Given the description of an element on the screen output the (x, y) to click on. 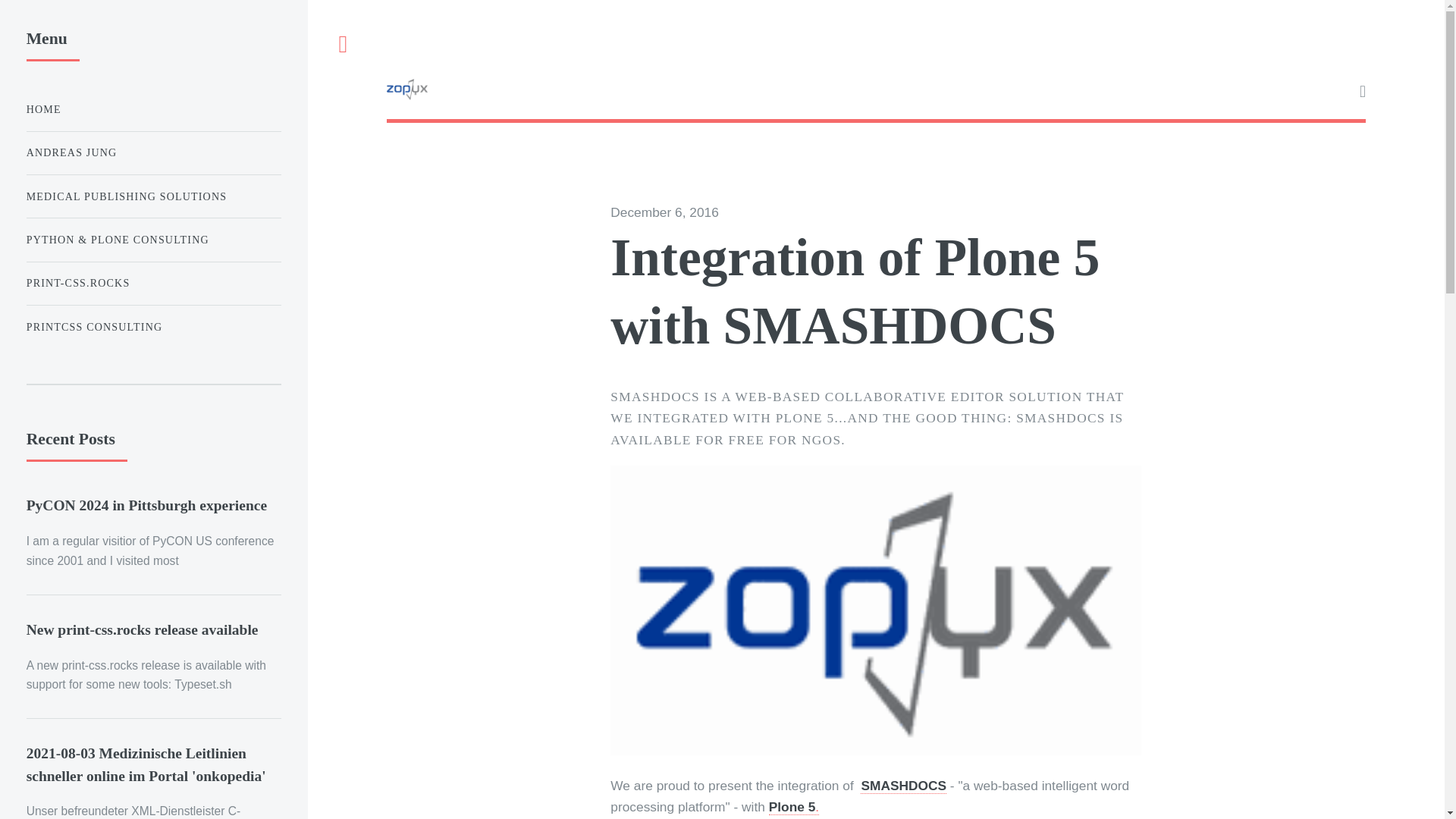
SMASHDOCS (903, 785)
Plone 5. (793, 806)
HOME (153, 109)
PyCON 2024 in Pittsburgh experience (146, 505)
New print-css.rocks release available (142, 629)
PRINTCSS CONSULTING (153, 327)
ANDREAS JUNG (153, 153)
PRINT-CSS.ROCKS (153, 283)
MEDICAL PUBLISHING SOLUTIONS (153, 196)
